Given the description of an element on the screen output the (x, y) to click on. 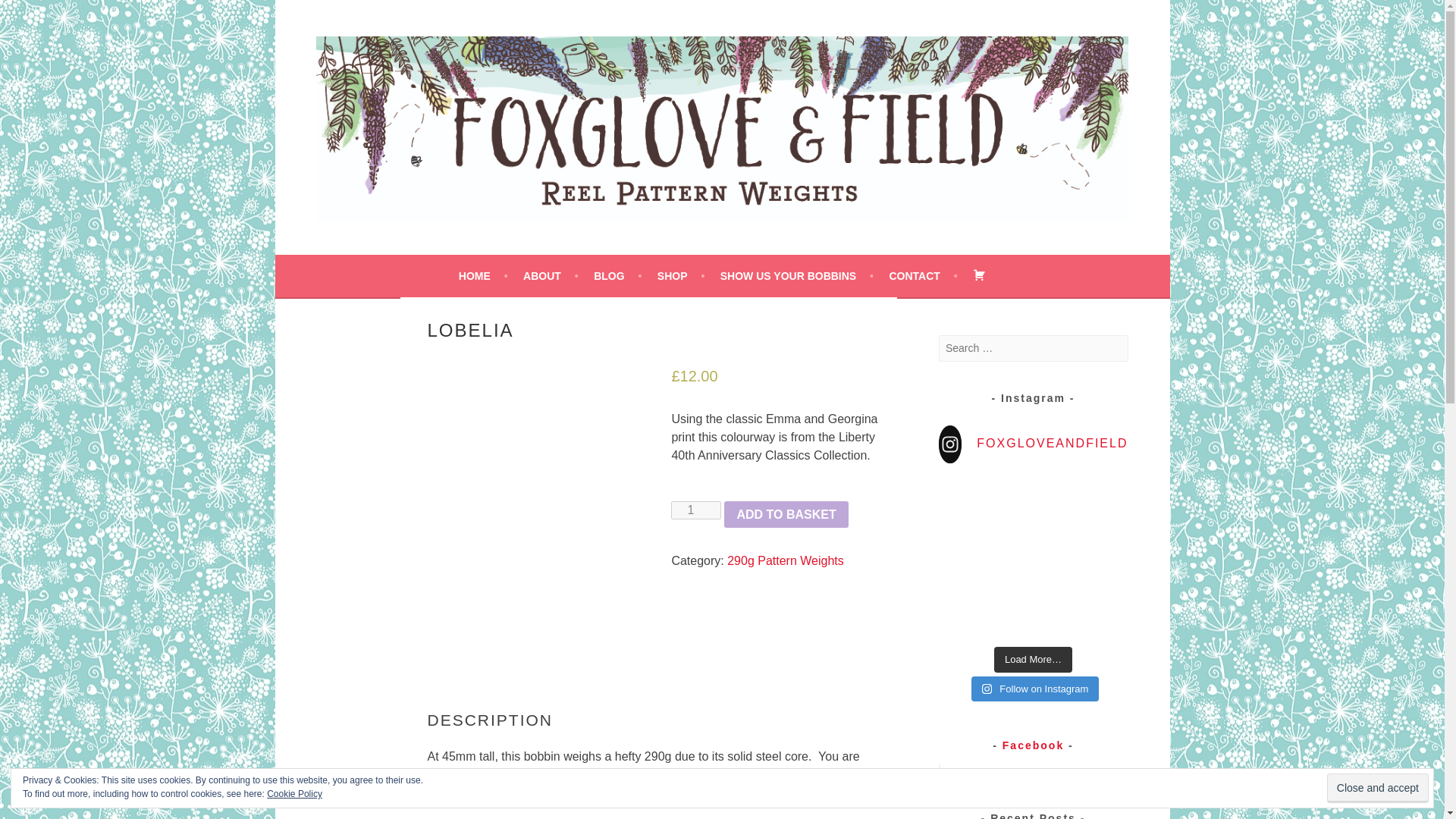
Search (30, 13)
SHOP (681, 275)
BLOG (618, 275)
Close and accept (1377, 788)
SHOW US YOUR BOBBINS (796, 275)
1 (695, 510)
290g Pattern Weights (785, 560)
HOME (483, 275)
ABOUT (550, 275)
CONTACT (922, 275)
